Given the description of an element on the screen output the (x, y) to click on. 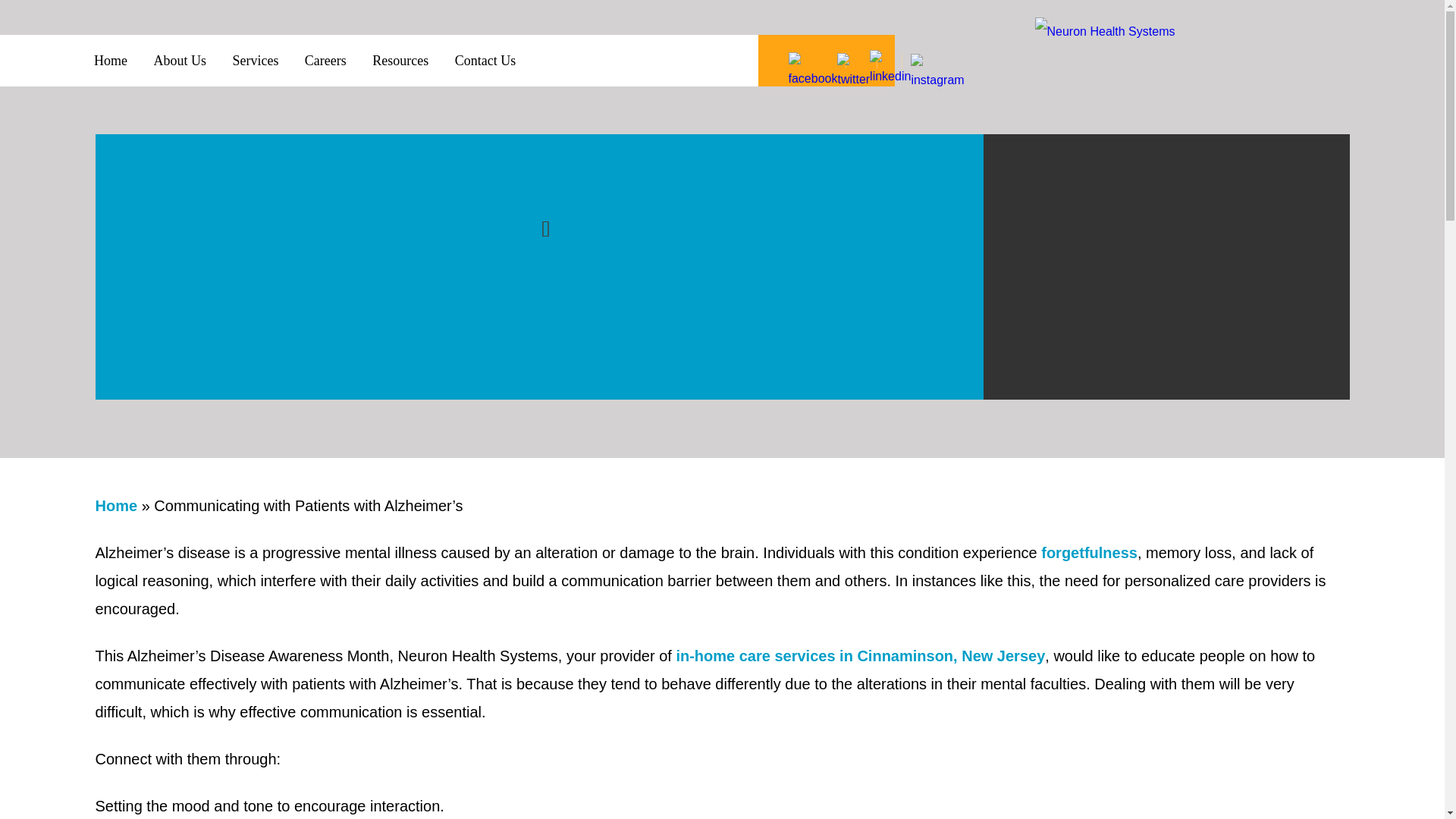
Careers (325, 60)
Resources (400, 60)
Home (111, 60)
Services (254, 60)
About Us (179, 60)
